Given the description of an element on the screen output the (x, y) to click on. 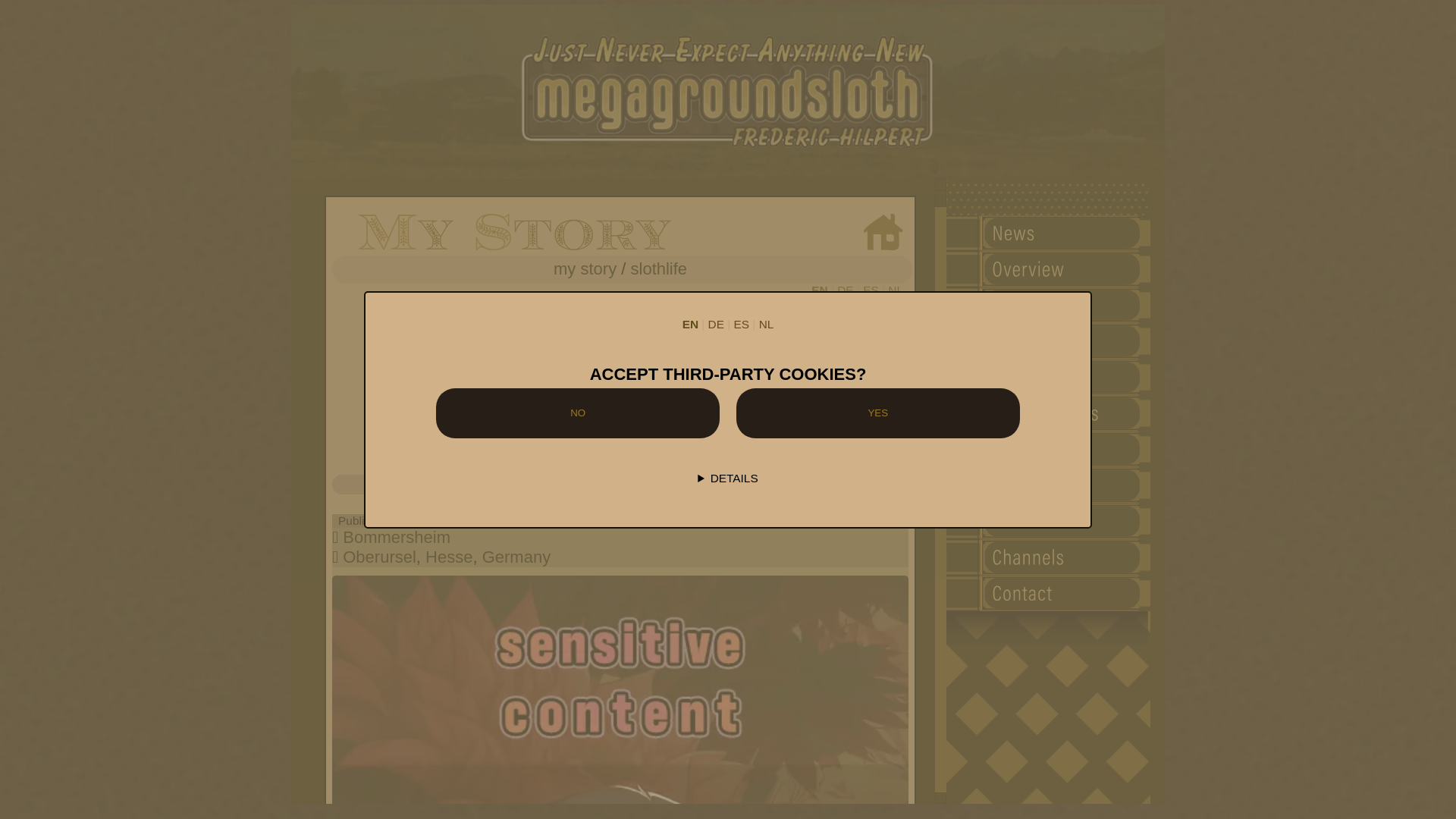
YES (878, 413)
Hesse (448, 556)
NL (895, 289)
Place: Bommersheim (395, 537)
Country: Germany (515, 556)
DE (845, 289)
EN (690, 323)
ES (871, 289)
NO (577, 413)
Germany (515, 556)
my story (584, 268)
ES (741, 323)
EN (818, 289)
slothlife (658, 268)
Region: Hesse (448, 556)
